Given the description of an element on the screen output the (x, y) to click on. 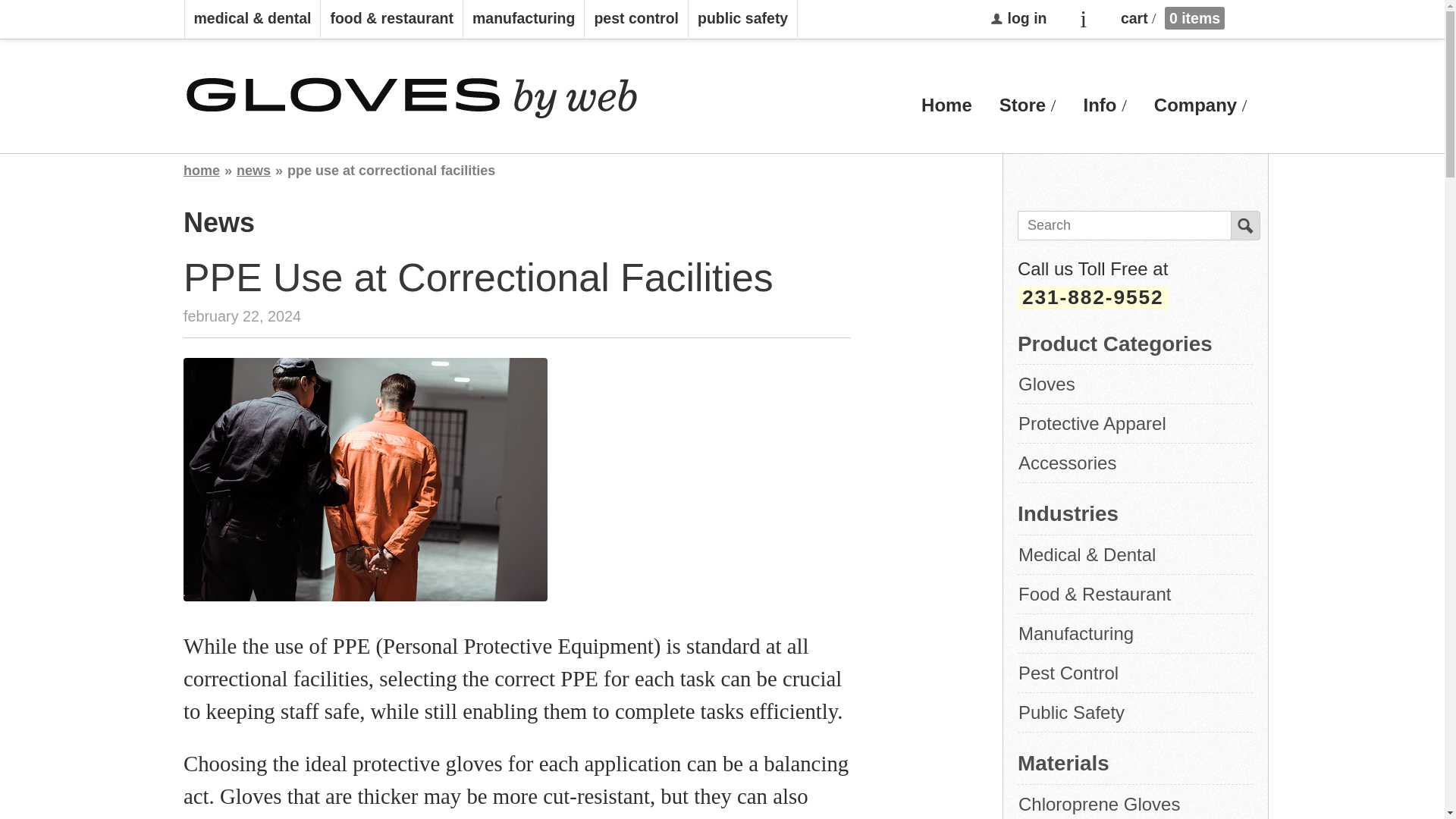
Chloroprene Gloves (1134, 801)
manufacturing (524, 19)
Company (1200, 105)
Back to the frontpage (201, 170)
cart 0 items (1165, 18)
Gloves (1134, 383)
pest control (636, 19)
Public Safety (1134, 712)
Pest Control (1134, 672)
Manufacturing (1134, 633)
log in (1019, 19)
Store (1027, 105)
Search (1245, 225)
Accessories (1134, 462)
home (201, 170)
